Given the description of an element on the screen output the (x, y) to click on. 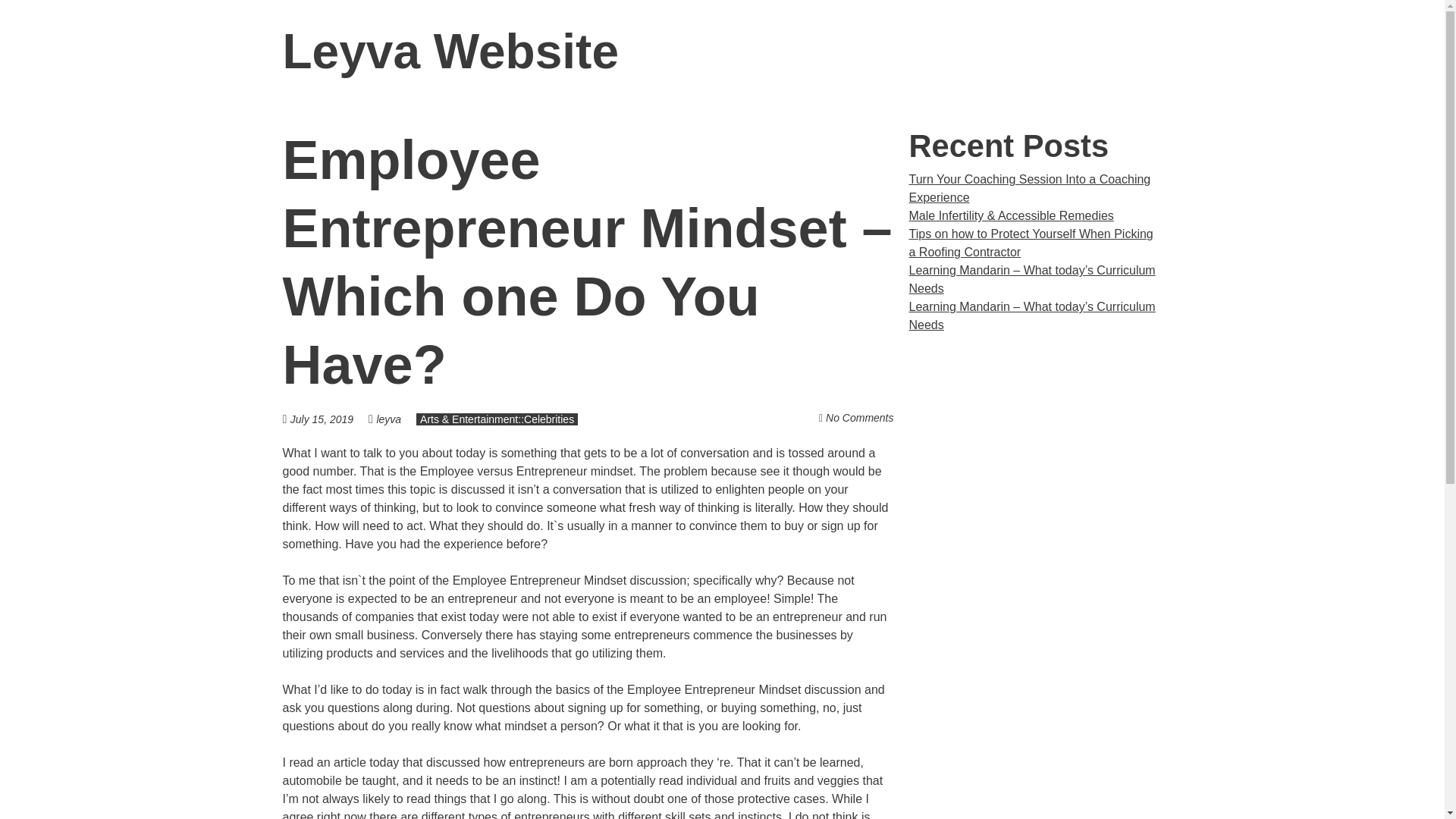
Skip to content (1181, 52)
July 15, 2019 (328, 418)
Leyva Website (449, 51)
No Comments (859, 417)
Turn Your Coaching Session Into a Coaching Experience (1029, 187)
leyva (388, 419)
Skip to content (1181, 52)
